Given the description of an element on the screen output the (x, y) to click on. 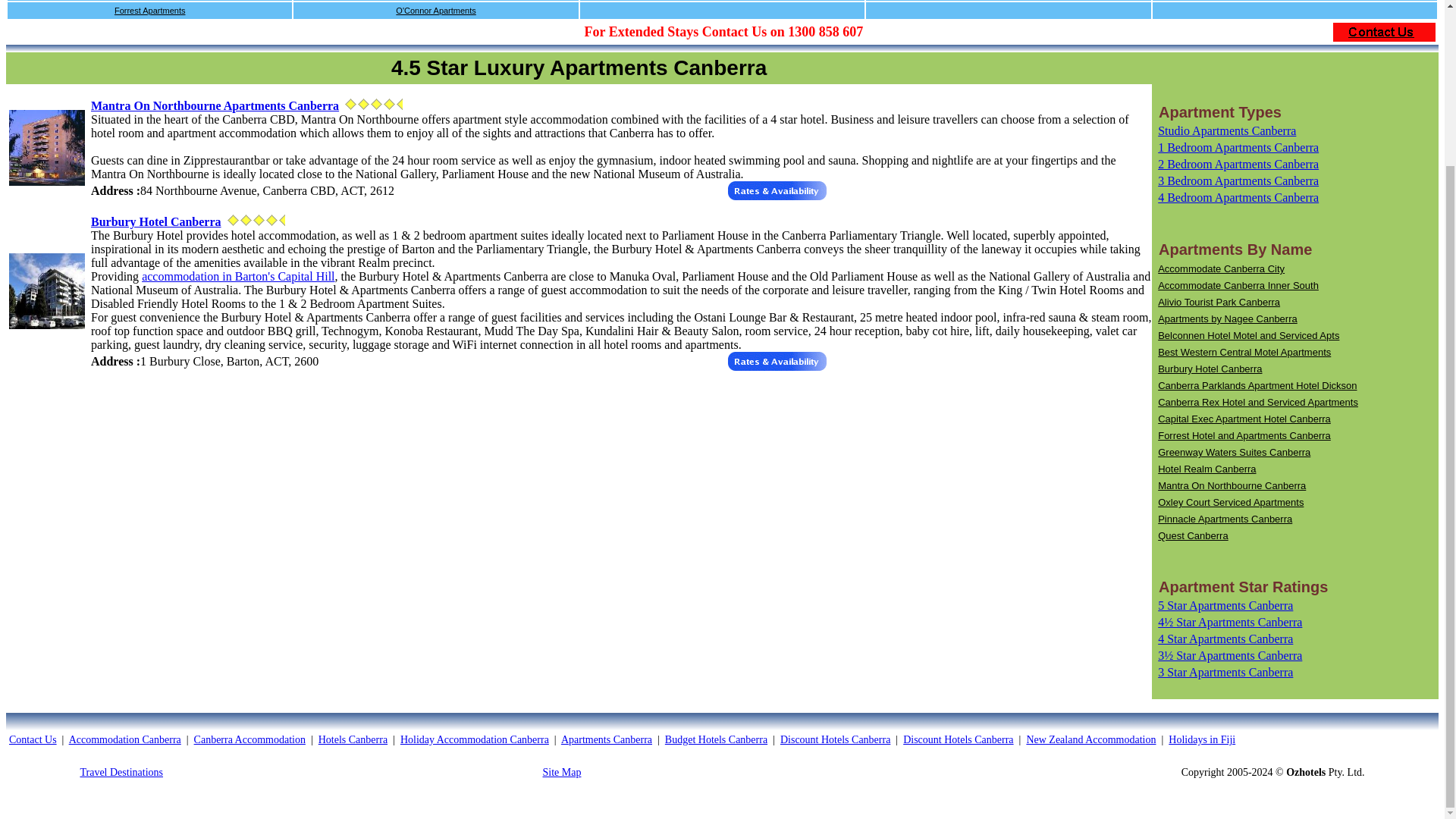
Belconnen Hotel Motel and Serviced Apts (1248, 335)
Burbury Hotel Canberra (1209, 368)
1 Bedroom Apartments Canberra (1238, 146)
Forrest Hotel and Apartments Canberra (1243, 435)
Mantra On Northbourne Canberra (1231, 485)
Accommodate Canberra Inner South (1238, 285)
accommodation in Barton's Capital Hill (237, 276)
Apartments by Nagee Canberra (1227, 318)
Studio Apartments Canberra (1226, 130)
2 Bedroom Apartments Canberra (1238, 164)
Greenway Waters Suites Canberra (1233, 451)
Alivio Tourist Park Canberra (1218, 301)
Hotel Realm Canberra (1206, 469)
4 Bedroom Apartments Canberra (1238, 196)
Forrest Apartments (150, 10)
